Given the description of an element on the screen output the (x, y) to click on. 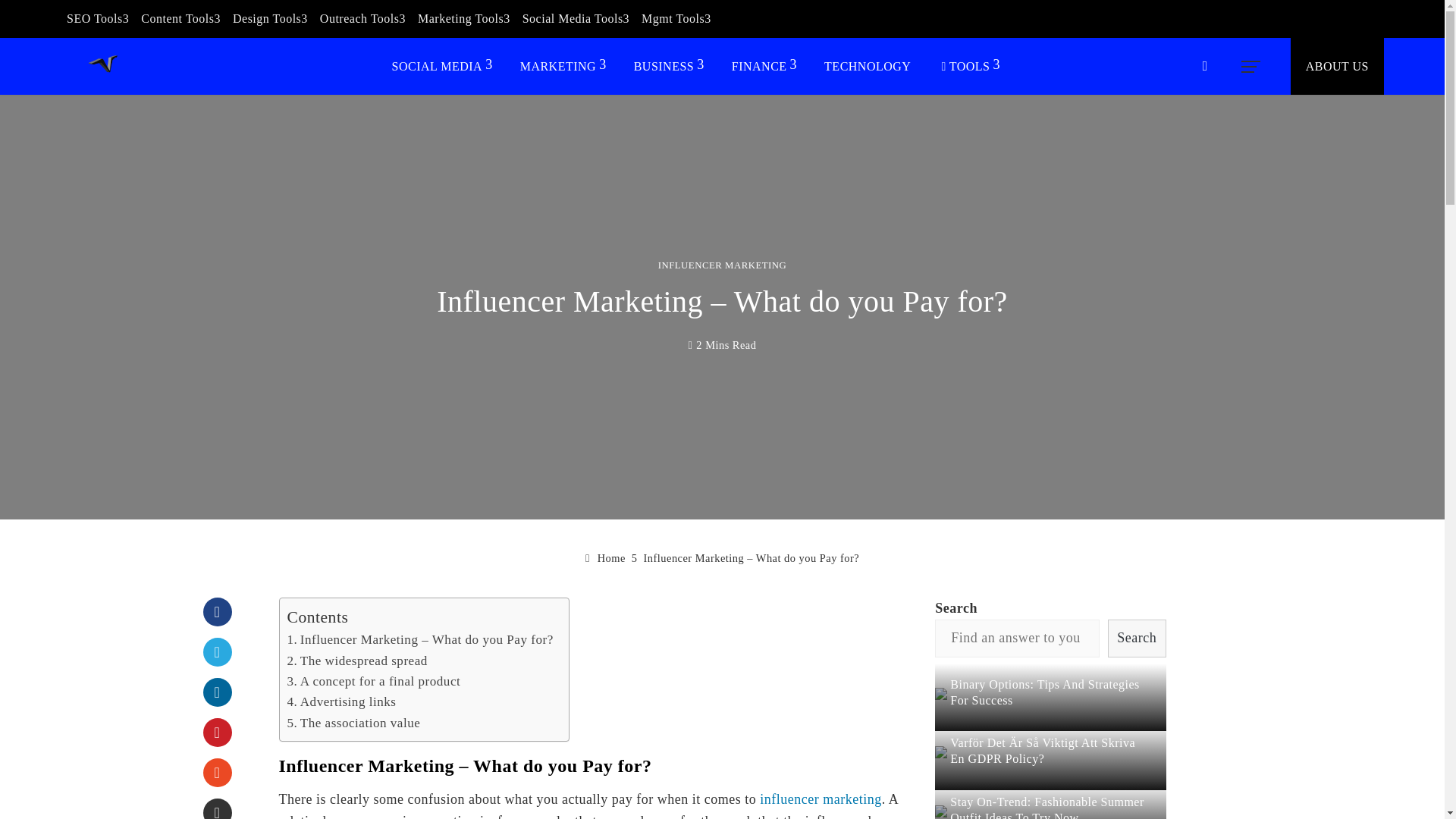
Content Tools (181, 18)
SEO Tools (97, 18)
Advertising links (341, 701)
A concept for a final product (373, 681)
The widespread spread (356, 660)
Outreach Tools (363, 18)
Design Tools (269, 18)
Marketing Tools (464, 18)
The association value (353, 722)
